Given the description of an element on the screen output the (x, y) to click on. 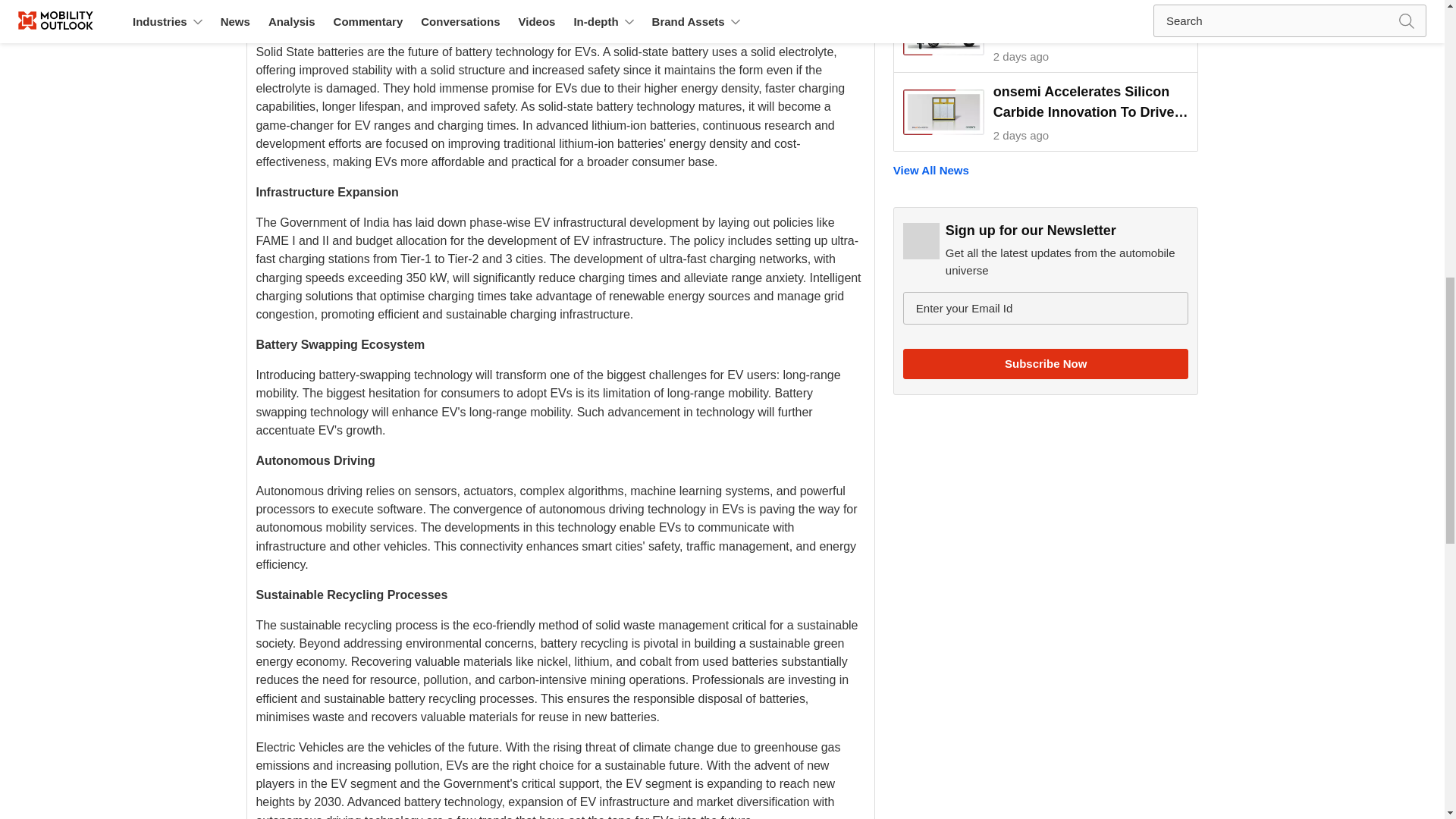
View All News (1045, 169)
Subscribe Now (1045, 363)
